Given the description of an element on the screen output the (x, y) to click on. 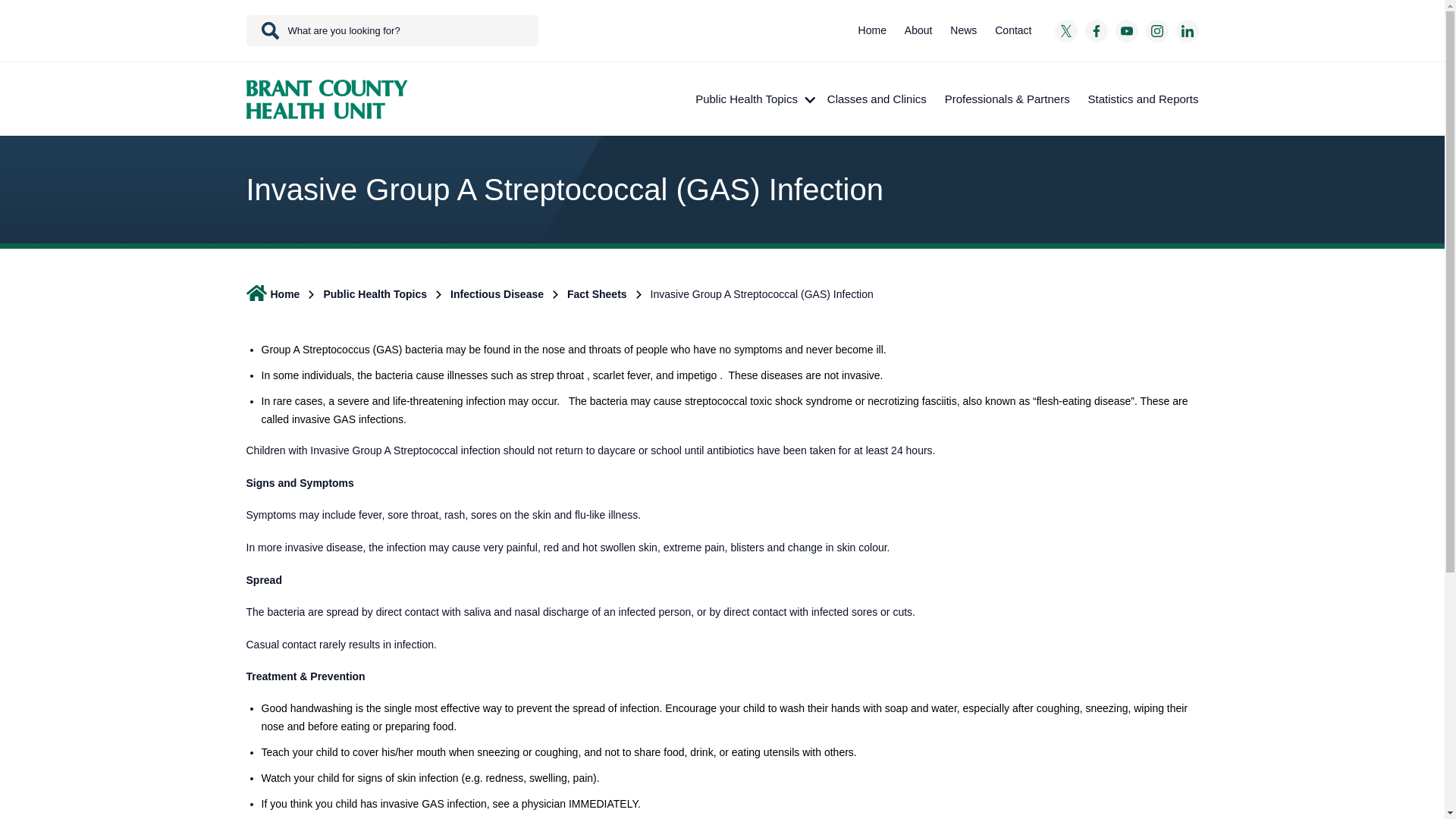
Contact (1013, 30)
Public Health Topics (752, 98)
News (963, 30)
About (918, 30)
Home (871, 30)
